Given the description of an element on the screen output the (x, y) to click on. 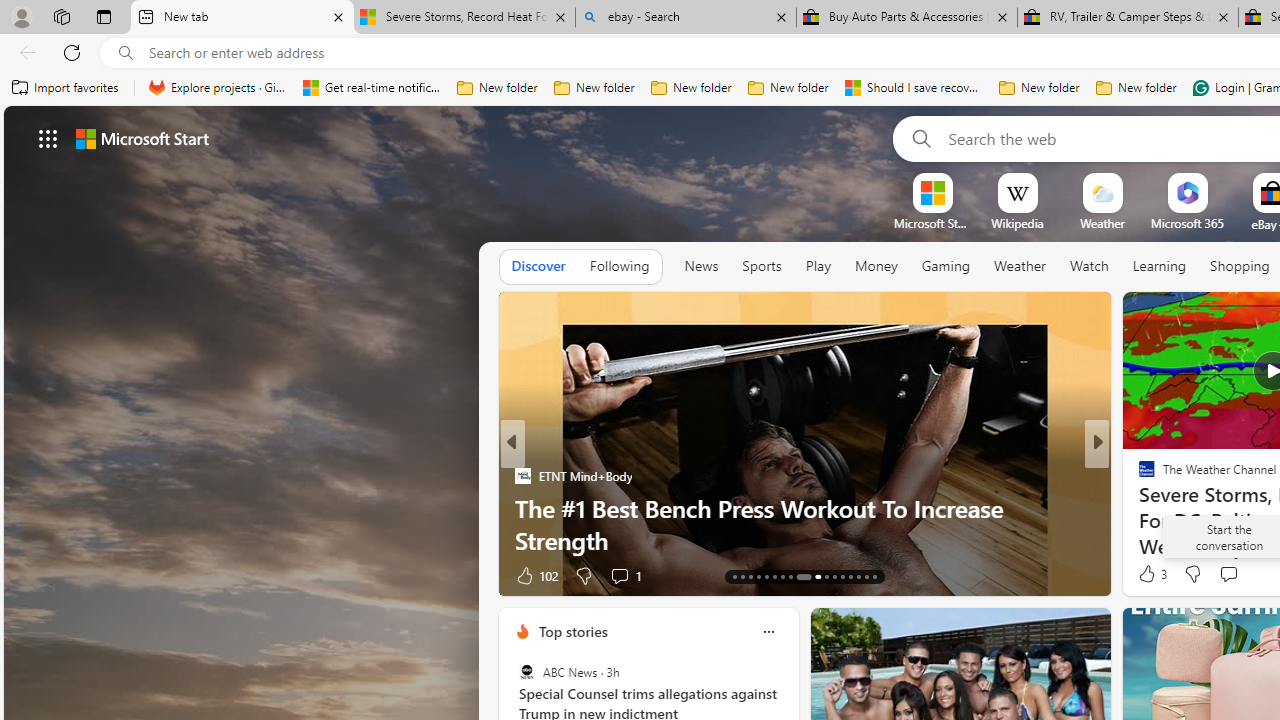
3 Like (1151, 574)
AutomationID: tab-29 (874, 576)
Wikipedia (1017, 223)
MUO (1138, 507)
Import favorites (65, 88)
Microsoft start (142, 138)
